Given the description of an element on the screen output the (x, y) to click on. 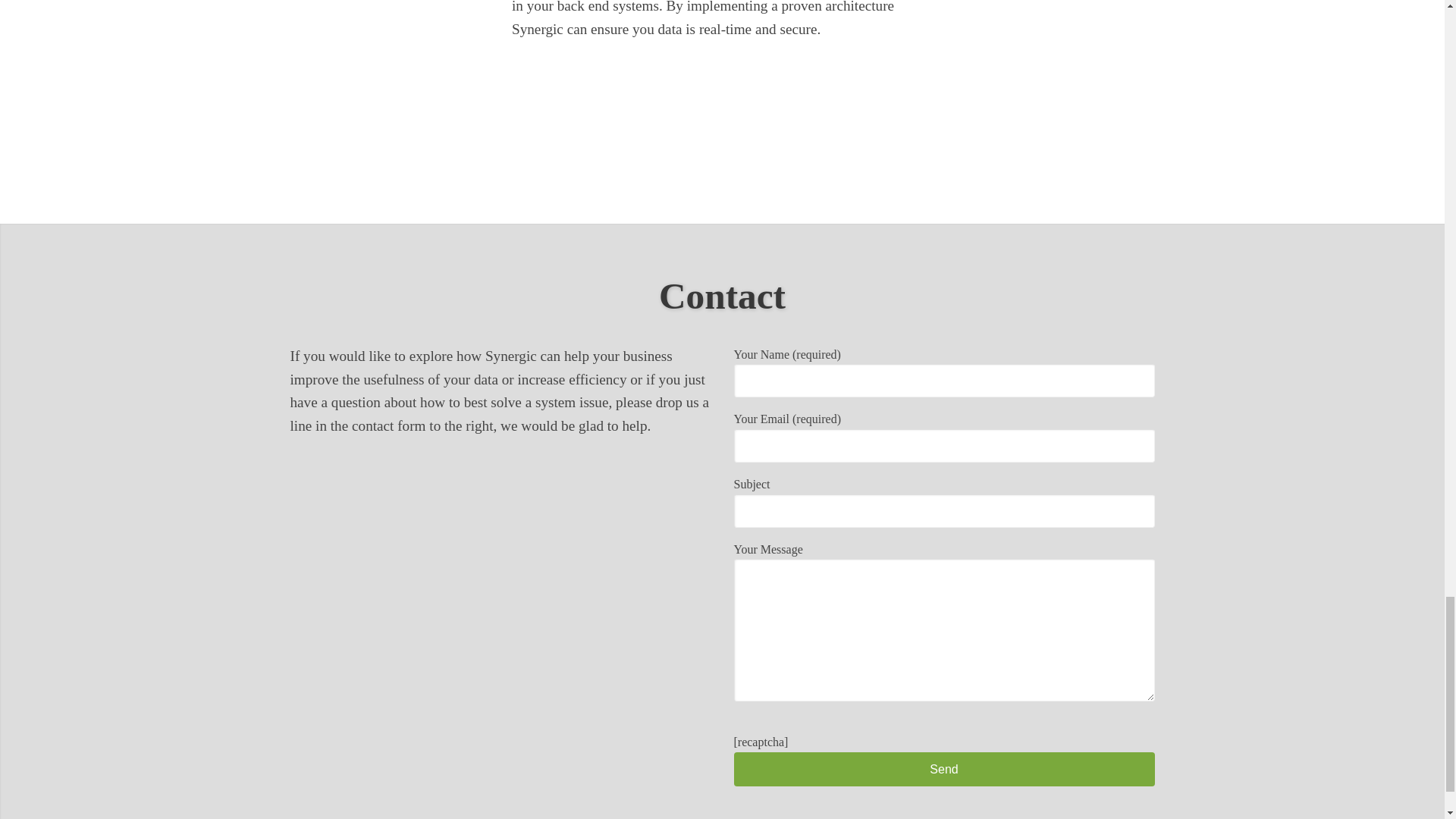
Send (943, 769)
Send (943, 769)
